Given the description of an element on the screen output the (x, y) to click on. 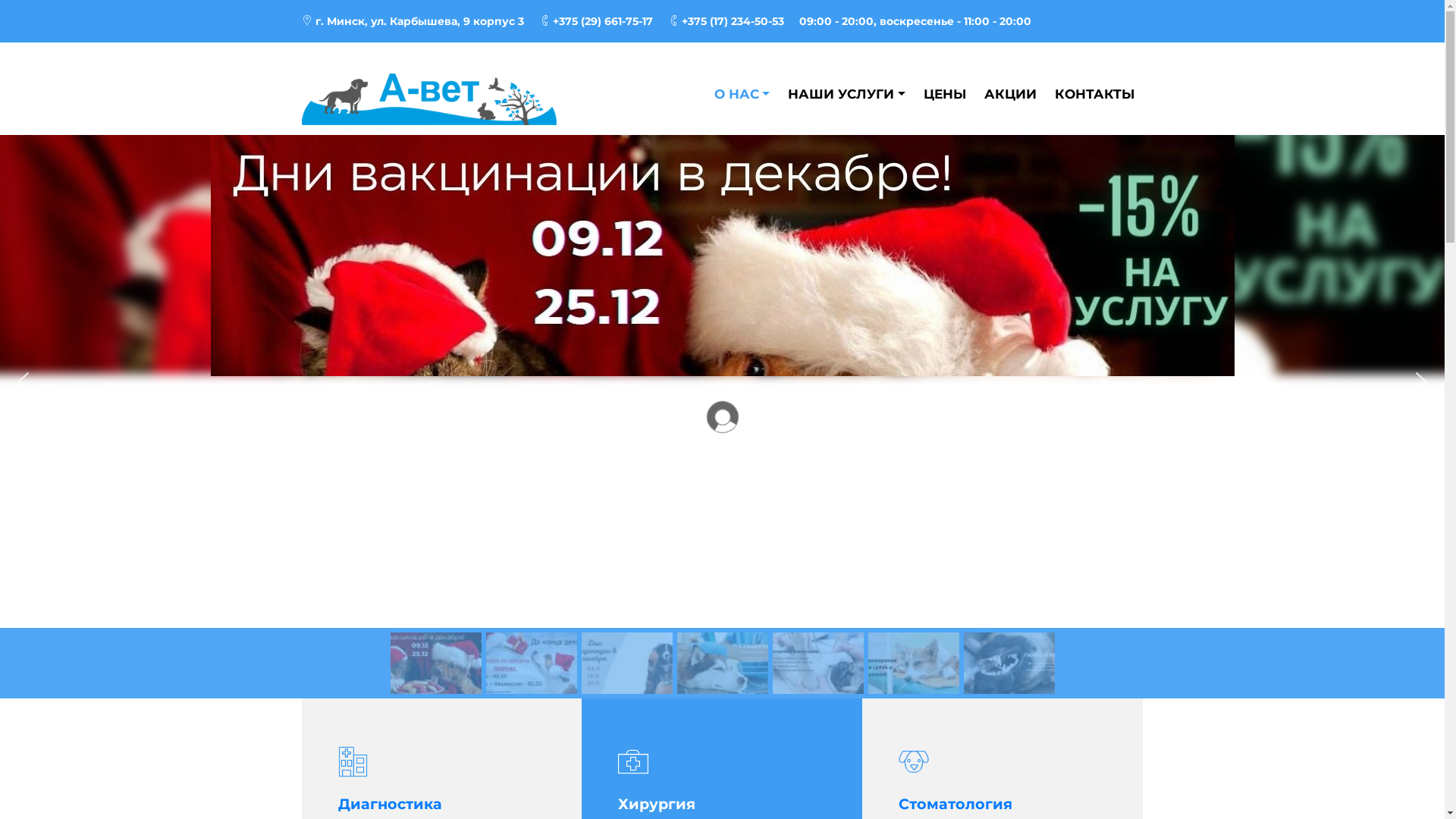
+375 (17) 234-50-53 Element type: text (725, 21)
+375 (29) 661-75-17 Element type: text (595, 21)
